Given the description of an element on the screen output the (x, y) to click on. 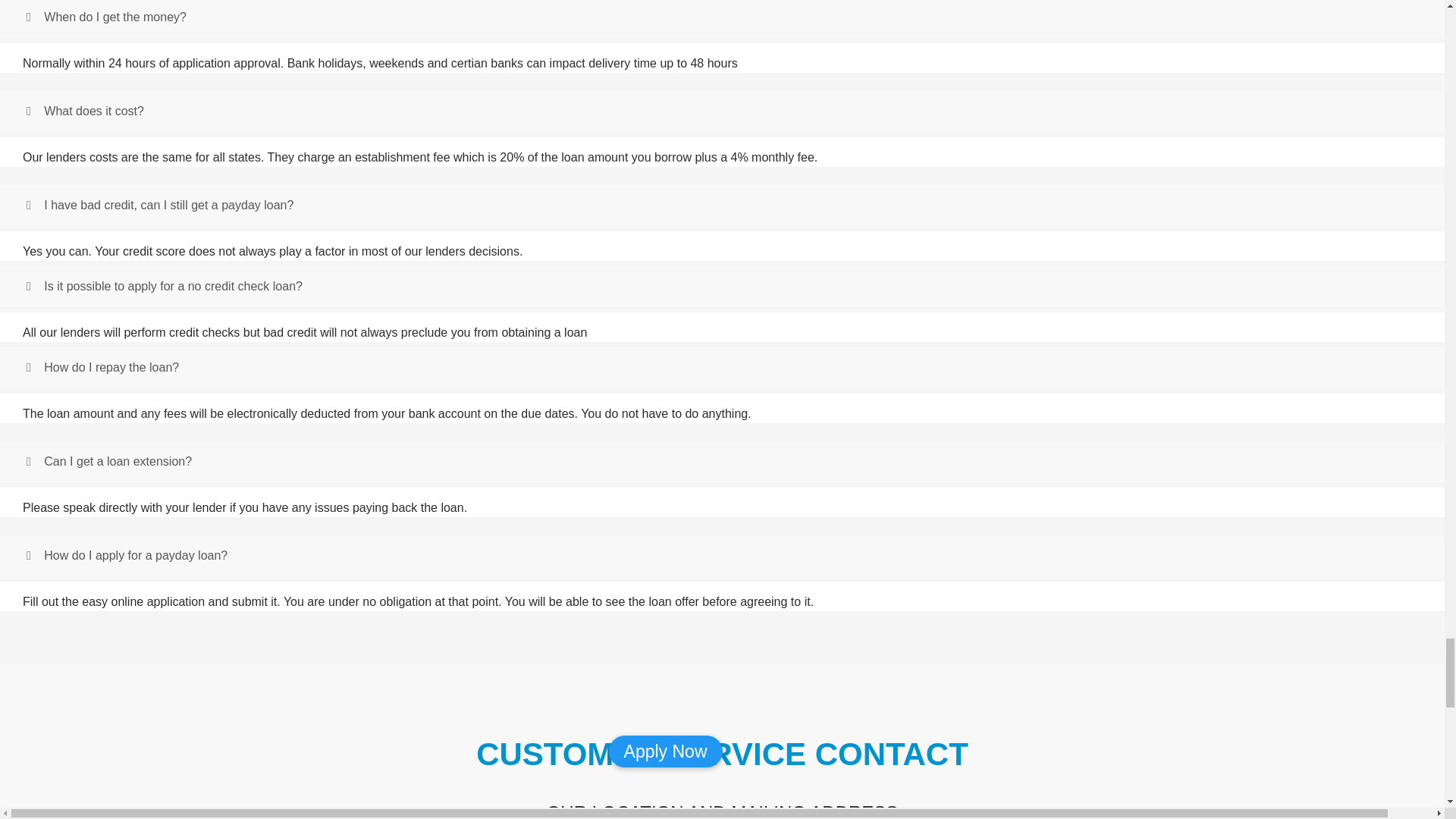
What does it cost? (85, 110)
Can I get a loan extension? (109, 461)
How do I apply for a payday loan? (126, 554)
Is it possible to apply for a no credit check loan? (164, 286)
I have bad credit, can I still get a payday loan? (160, 205)
How do I repay the loan? (102, 367)
When do I get the money? (106, 16)
